Given the description of an element on the screen output the (x, y) to click on. 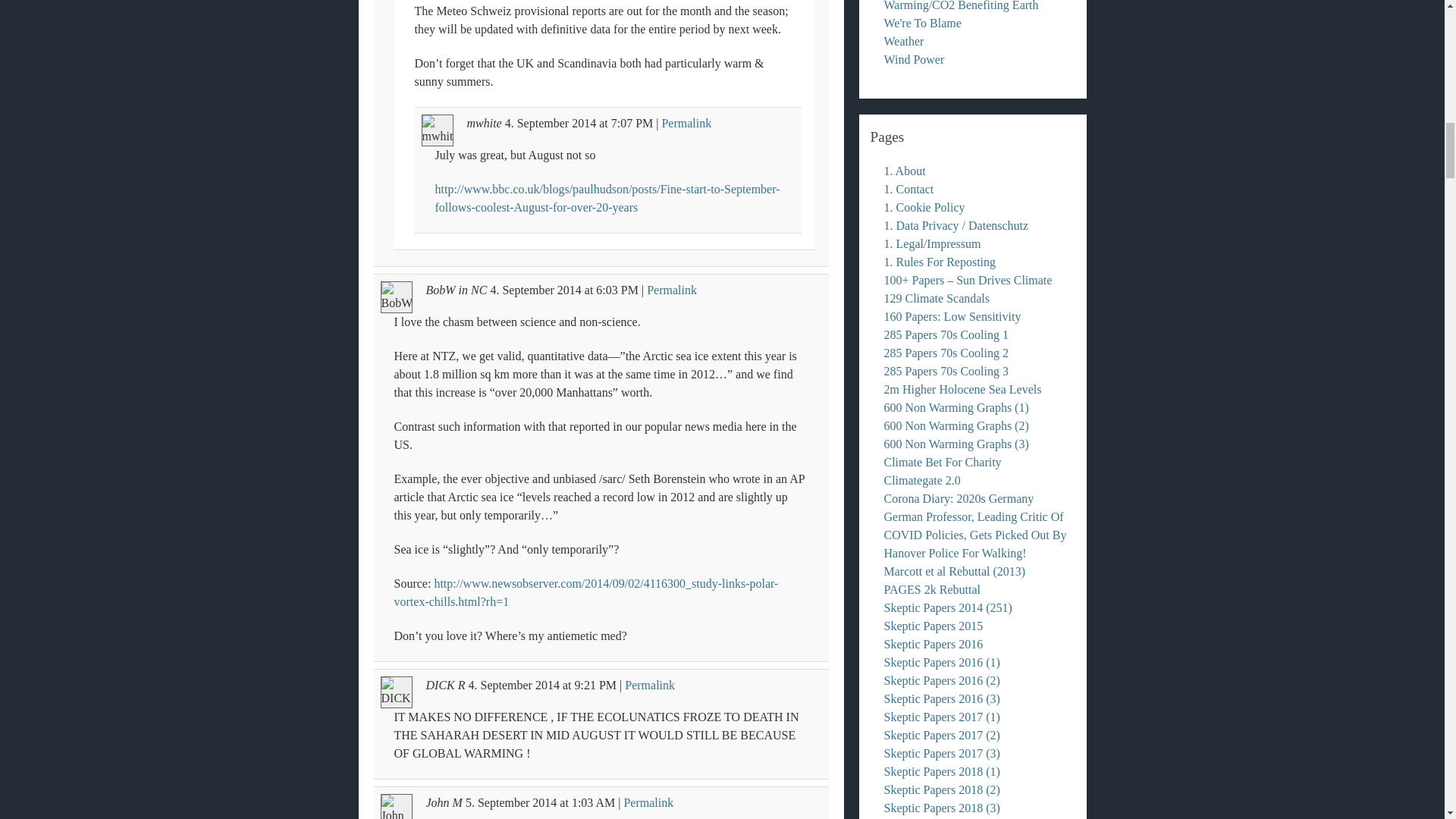
Permalink (647, 802)
Permalink (649, 684)
Permalink (686, 123)
Permalink (671, 289)
